Given the description of an element on the screen output the (x, y) to click on. 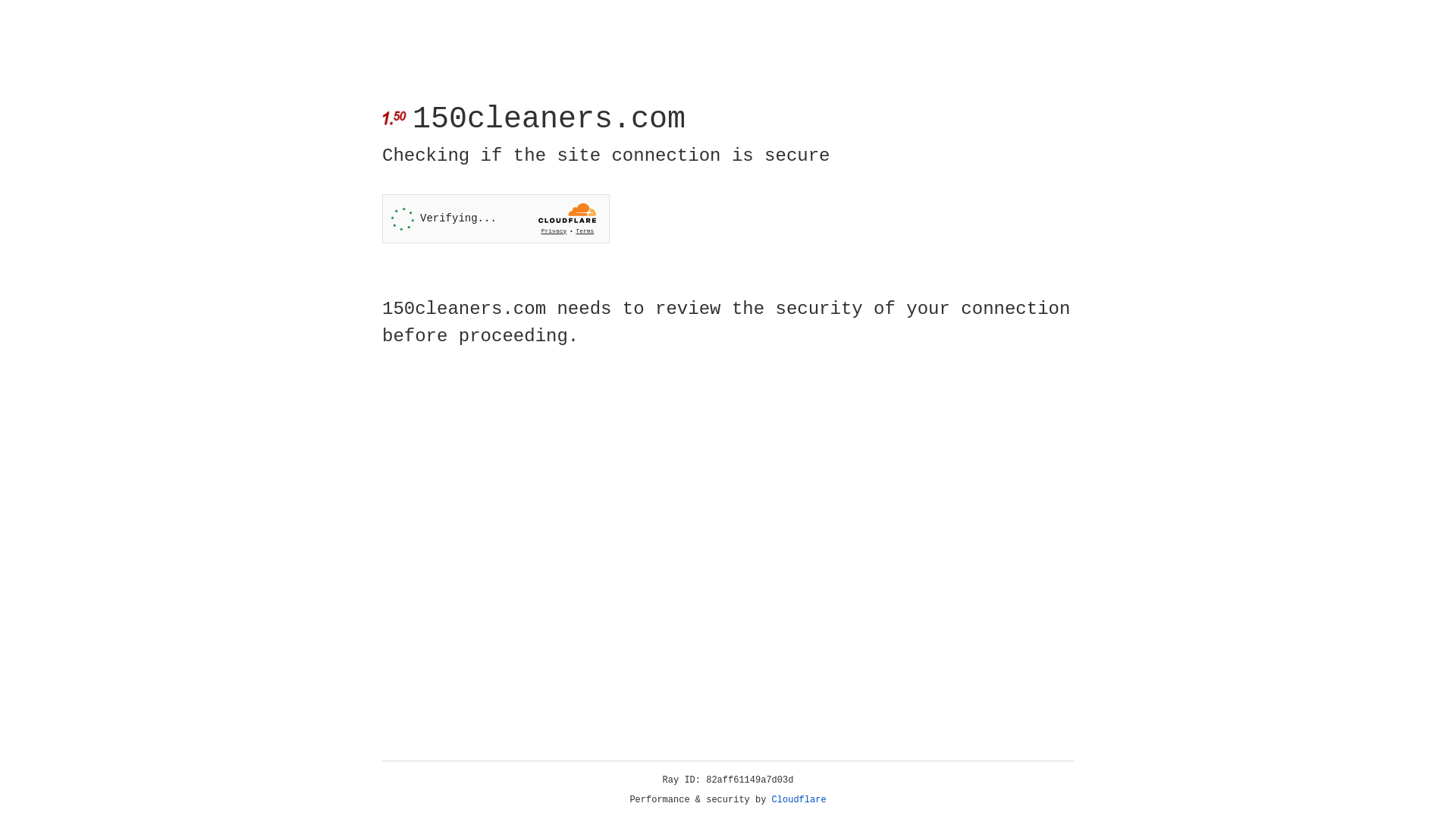
Widget containing a Cloudflare security challenge Element type: hover (495, 218)
Cloudflare Element type: text (798, 799)
